Given the description of an element on the screen output the (x, y) to click on. 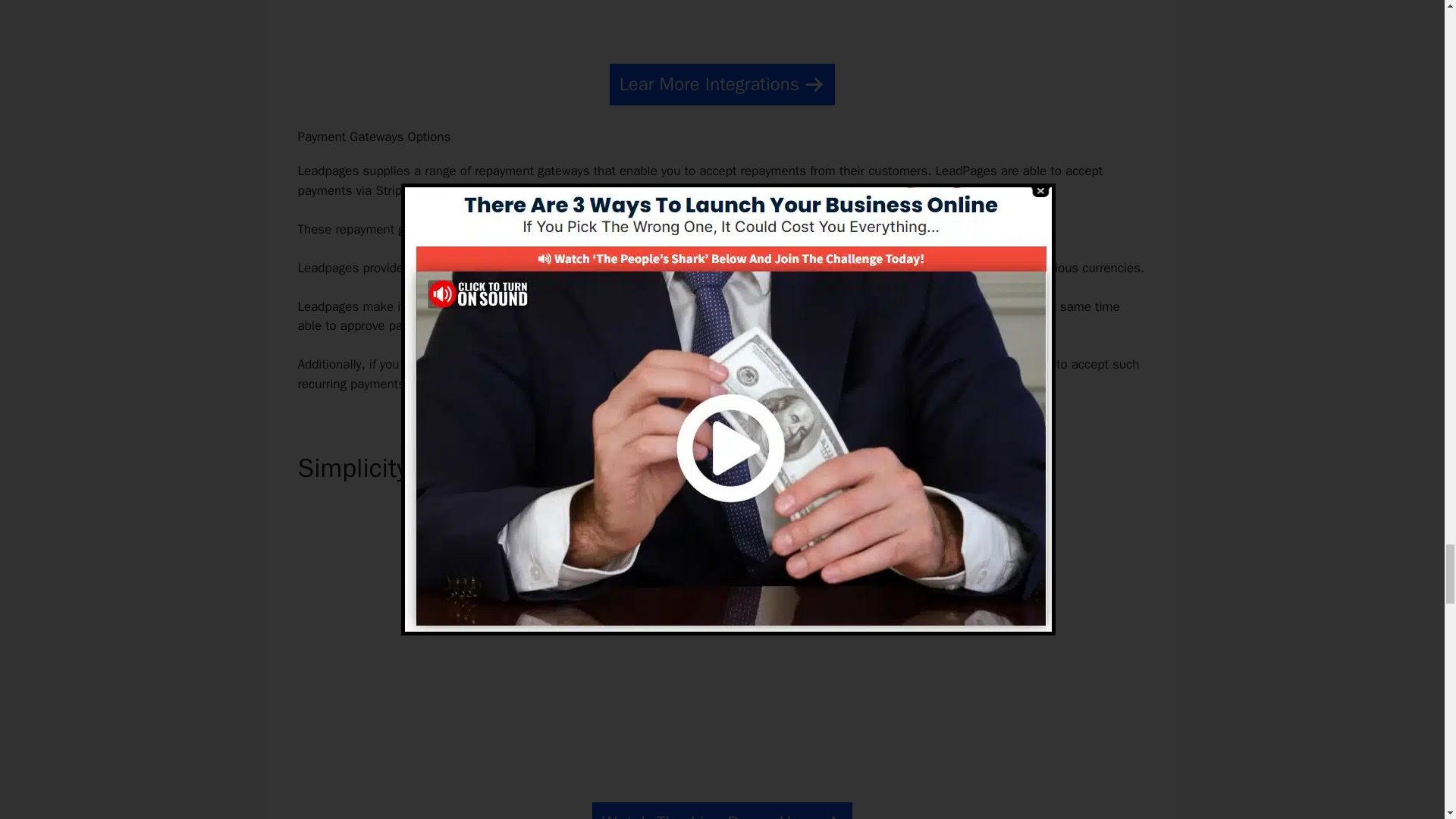
Watch The Live Demo Here (721, 810)
Lear More Integrations (722, 84)
